Given the description of an element on the screen output the (x, y) to click on. 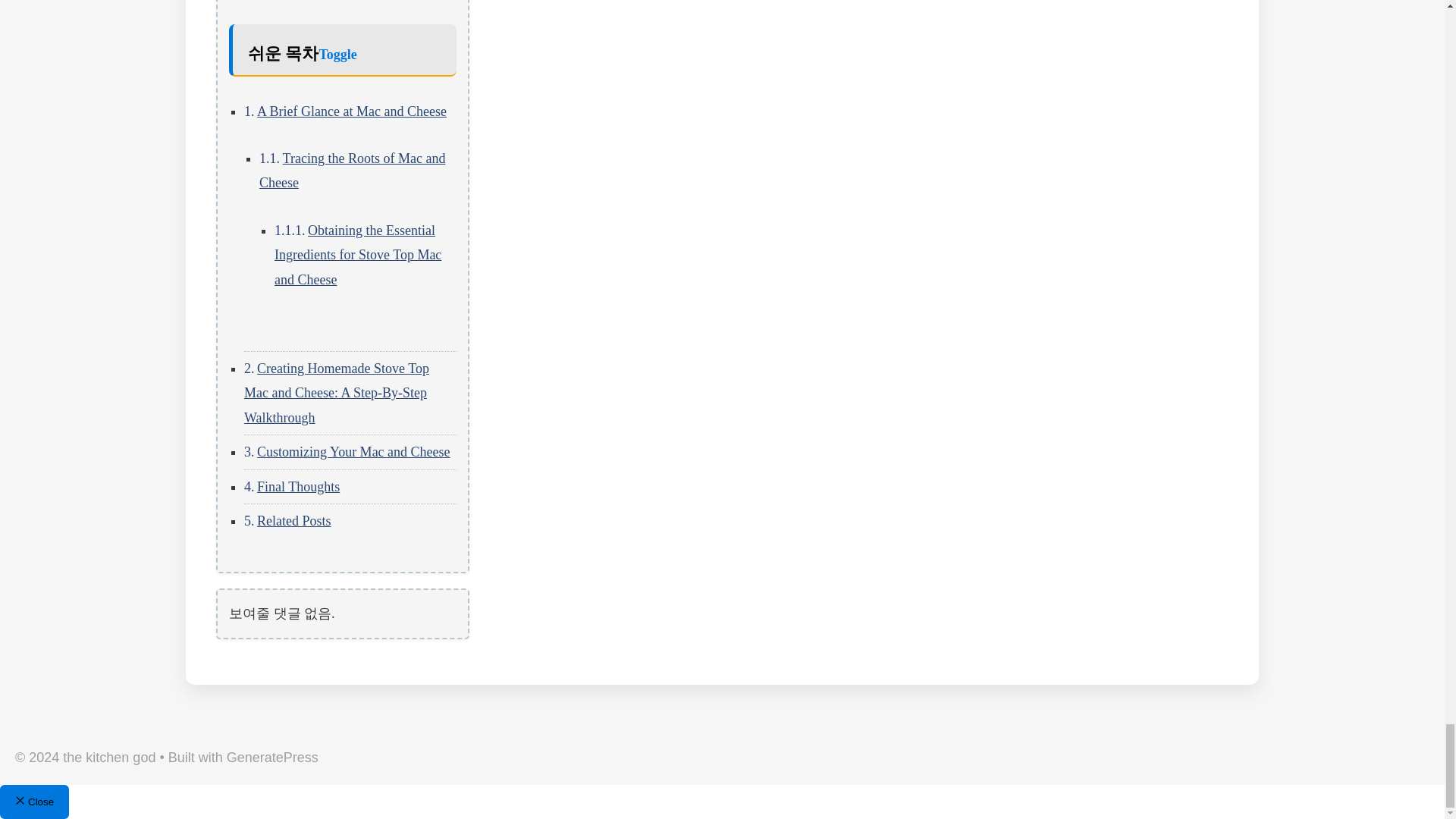
Customizing Your Mac and Cheese (353, 451)
Related Posts (294, 520)
Tracing the Roots of Mac and Cheese (352, 170)
A Brief Glance at Mac and Cheese (351, 111)
Final Thoughts (298, 486)
